Given the description of an element on the screen output the (x, y) to click on. 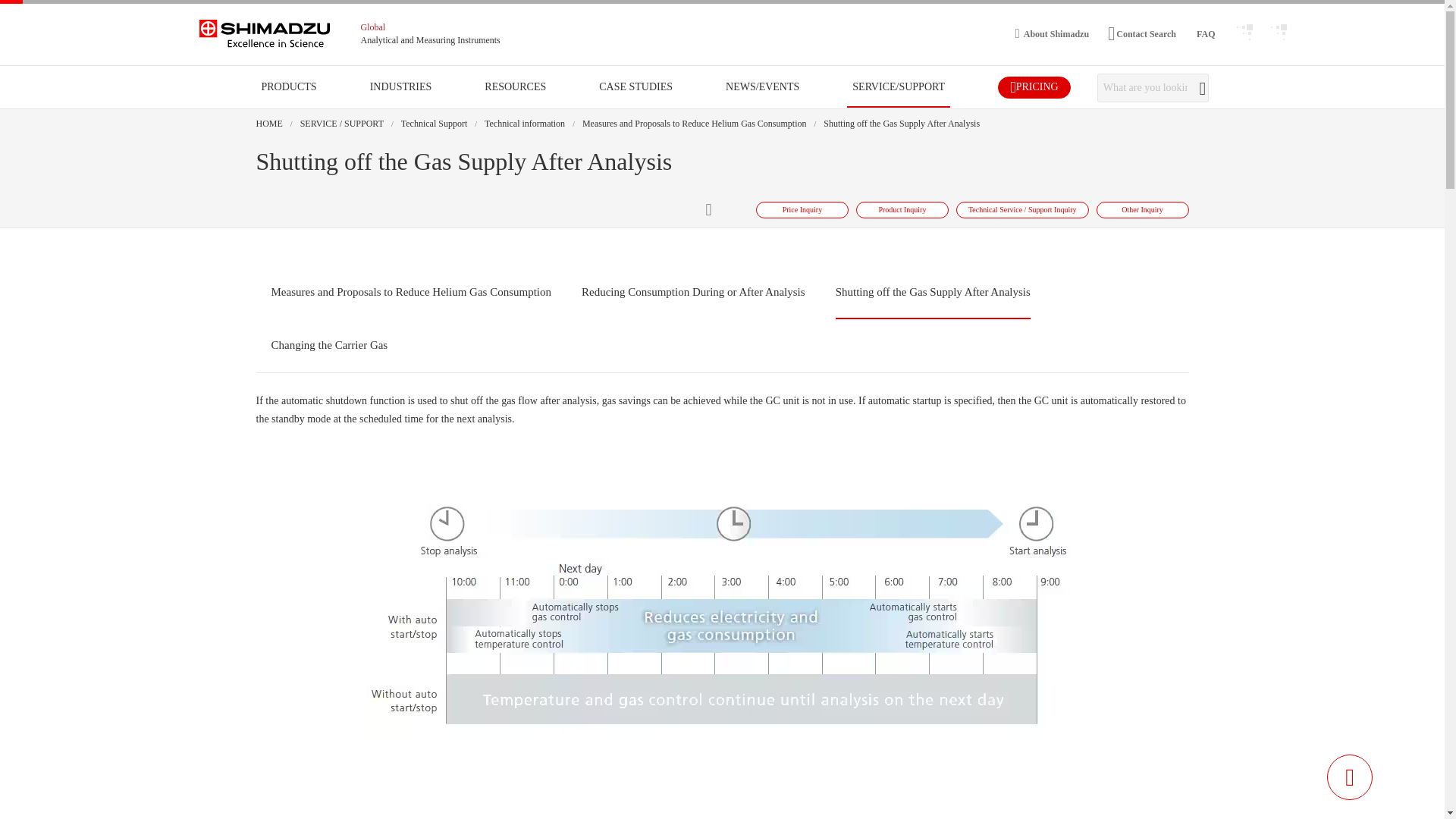
Shutting off the Gas Supply After Analysis (901, 122)
Price Inquiry (801, 209)
Contact Search (1142, 33)
Other Inquiry (1142, 209)
About Shimadzu (1051, 33)
Product Inquiry (902, 209)
Shutting off the Gas Supply After Analysis (932, 291)
HOME (269, 122)
Technical Support (434, 122)
Measures and Proposals to Reduce Helium Gas Consumption (694, 122)
FAQ (1204, 33)
Measures and Proposals to Reduce Helium Gas Consumption (410, 291)
Reducing Consumption During or After Analysis (692, 291)
Analytical and Measuring Instruments (430, 40)
Technical information (524, 122)
